Given the description of an element on the screen output the (x, y) to click on. 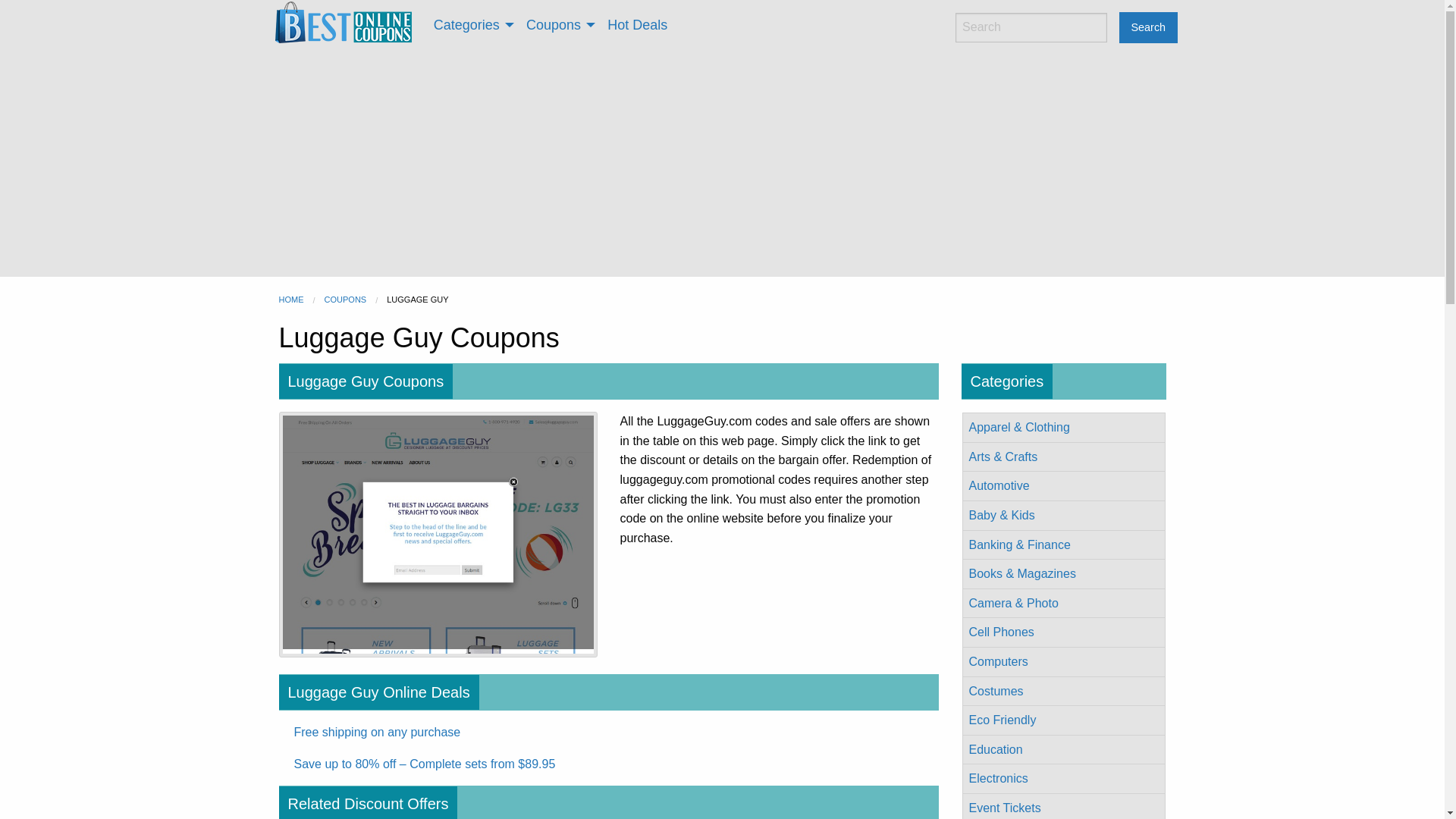
Coupons (558, 24)
Categories (470, 24)
